Given the description of an element on the screen output the (x, y) to click on. 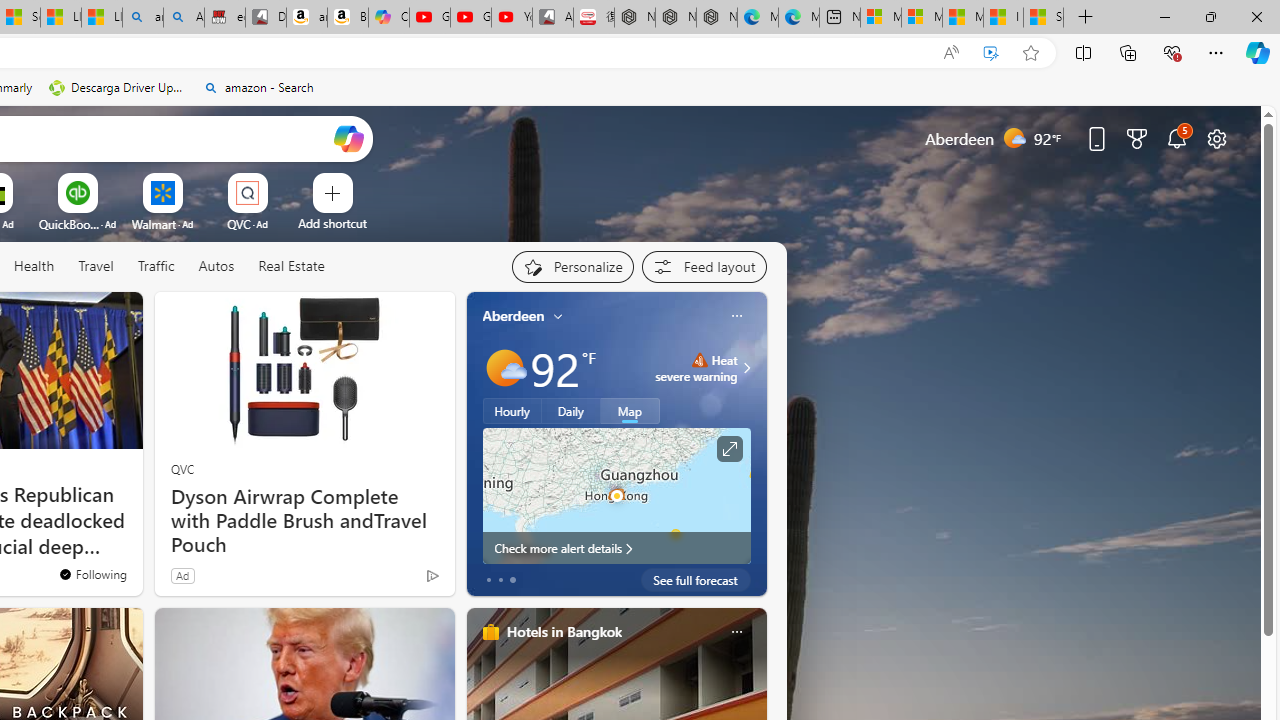
Daily (571, 411)
amazon - Search (142, 17)
Heat - Severe (699, 359)
Hourly (511, 411)
You're following FOX News (92, 573)
Autos (215, 265)
tab-2 (511, 579)
Microsoft account | Privacy (922, 17)
Autos (216, 267)
